Given the description of an element on the screen output the (x, y) to click on. 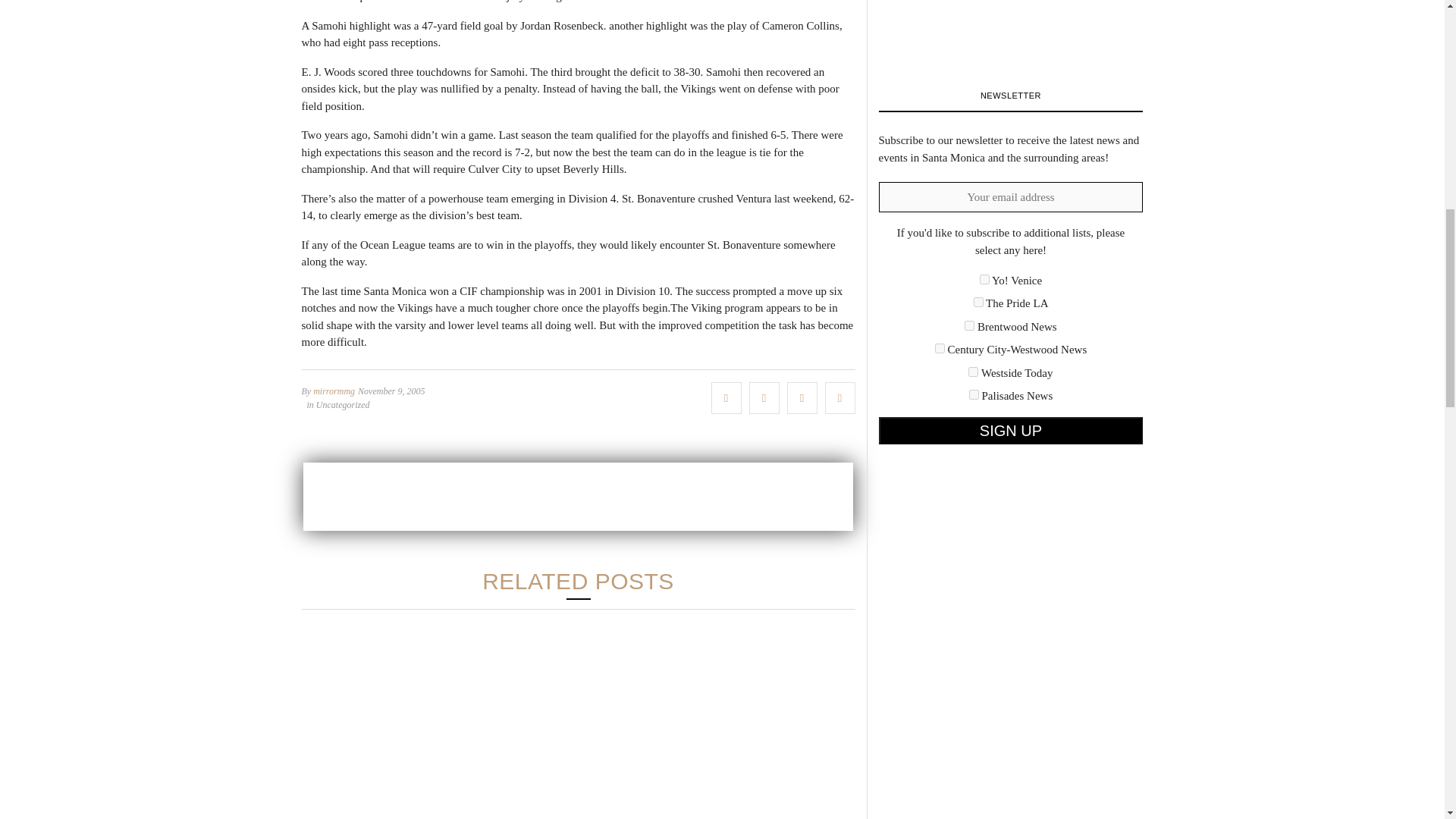
ec7d882848 (973, 394)
382281a661 (968, 325)
2c616d28b5 (984, 279)
3rd party ad content (577, 496)
Sign up (1009, 430)
Posts by mirrormmg (334, 389)
5fac618226 (939, 347)
33f79e7e4d (979, 302)
3rd party ad content (991, 22)
a3d1b6d535 (973, 371)
